Given the description of an element on the screen output the (x, y) to click on. 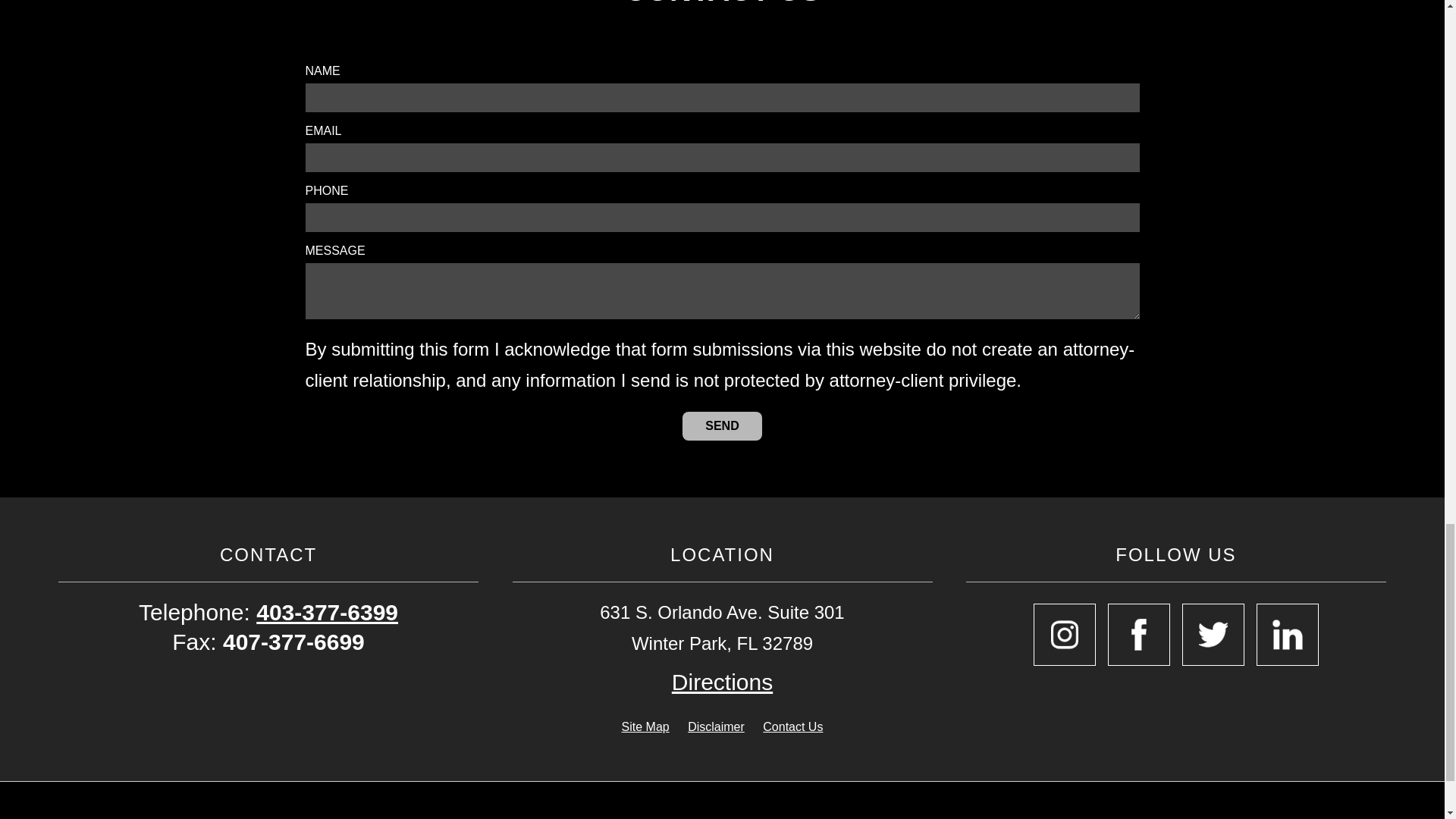
Send (721, 425)
Open Instagram in a New Window (1064, 634)
Open Facebook in a New Window (1139, 634)
Open Twitter in a New Window (1213, 634)
Open Google Map in a New Window (722, 681)
Open Linkedin in a New Window (1287, 634)
